Given the description of an element on the screen output the (x, y) to click on. 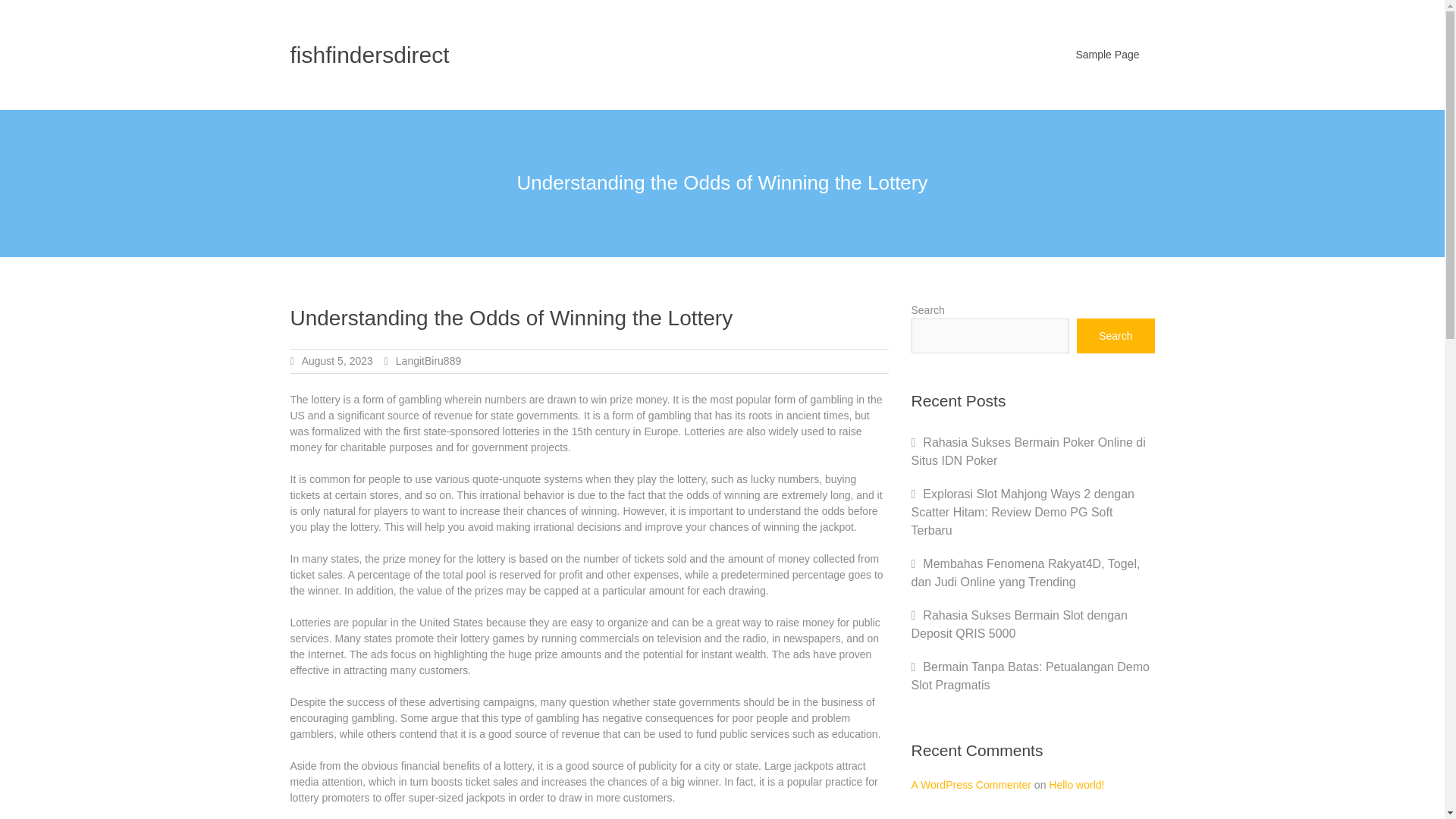
A WordPress Commenter (970, 784)
Rahasia Sukses Bermain Slot dengan Deposit QRIS 5000 (1018, 624)
Hello world! (1075, 784)
fishfindersdirect (368, 54)
Rahasia Sukses Bermain Poker Online di Situs IDN Poker (1028, 450)
August 5, 2023 (336, 360)
Sample Page (1106, 55)
LangitBiru889 (428, 360)
